Given the description of an element on the screen output the (x, y) to click on. 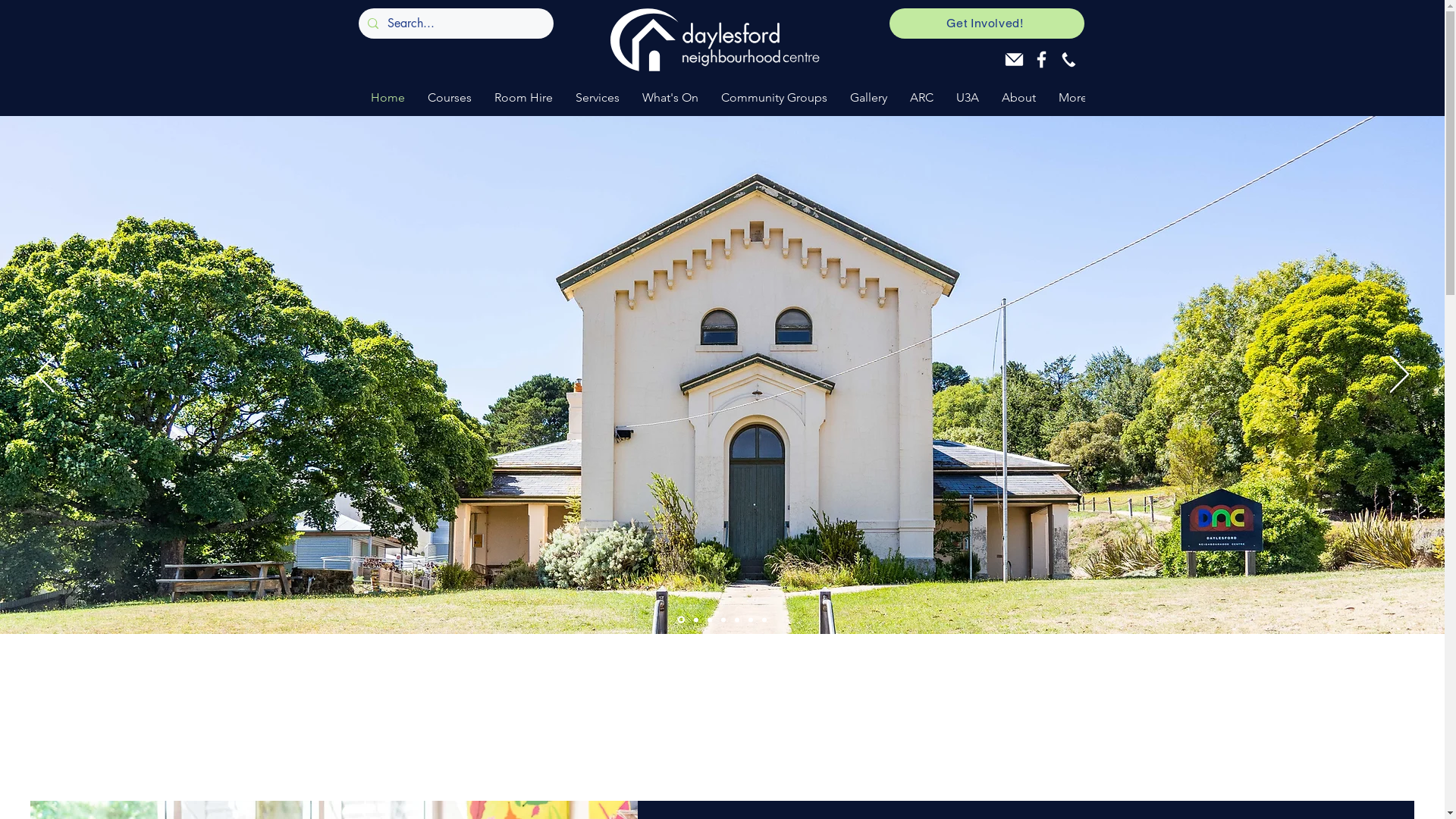
Room Hire Element type: text (522, 97)
U3A Element type: text (967, 97)
What's On Element type: text (669, 97)
ARC Element type: text (920, 97)
About Element type: text (1018, 97)
Gallery Element type: text (868, 97)
Home Element type: text (387, 97)
Get Involved! Element type: text (985, 23)
Community Groups Element type: text (773, 97)
